Given the description of an element on the screen output the (x, y) to click on. 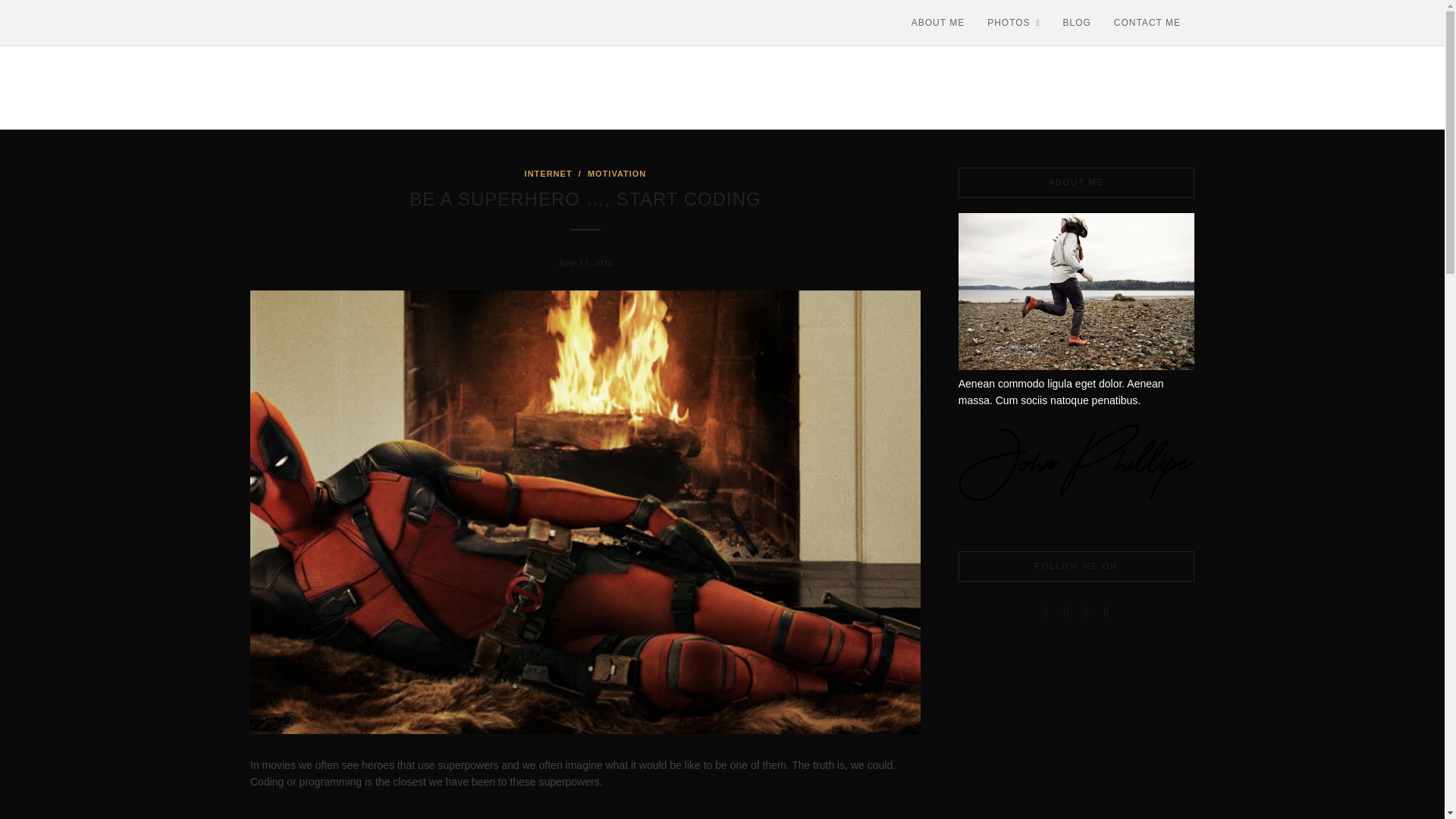
ABOUT ME (937, 23)
BLOG (1076, 23)
CONTACT ME (1147, 23)
PHOTOS (1012, 23)
MOTIVATION (617, 173)
INTERNET (548, 173)
